Given the description of an element on the screen output the (x, y) to click on. 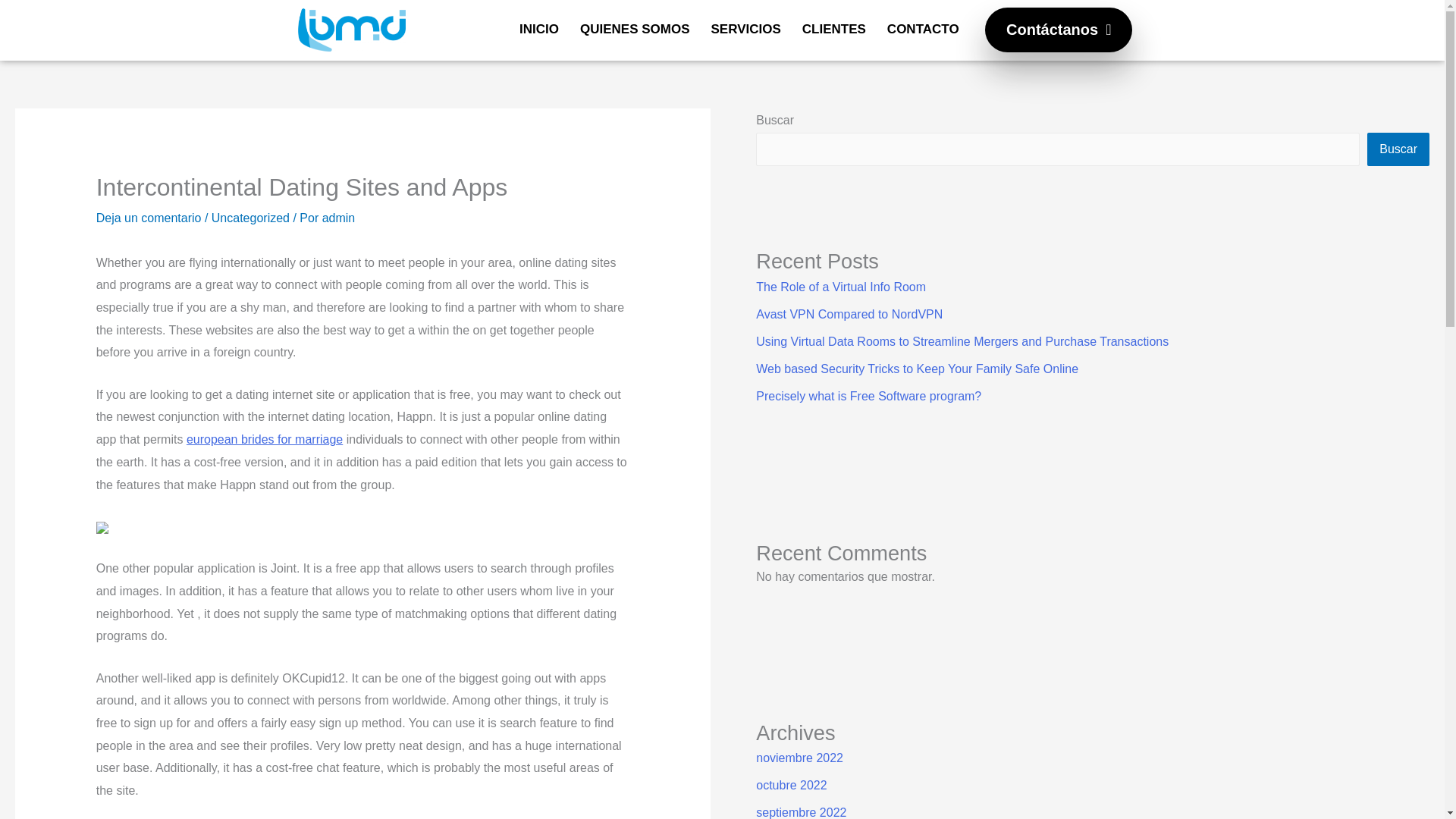
INICIO (538, 29)
CONTACTO (922, 29)
Avast VPN Compared to NordVPN (848, 314)
QUIENES SOMOS (634, 29)
Buscar (1398, 149)
Deja un comentario (149, 217)
Web based Security Tricks to Keep Your Family Safe Online (916, 368)
CLIENTES (834, 29)
european brides for marriage (264, 439)
Precisely what is Free Software program? (868, 395)
The Role of a Virtual Info Room (840, 286)
admin (338, 217)
SERVICIOS (746, 29)
Uncategorized (250, 217)
